Given the description of an element on the screen output the (x, y) to click on. 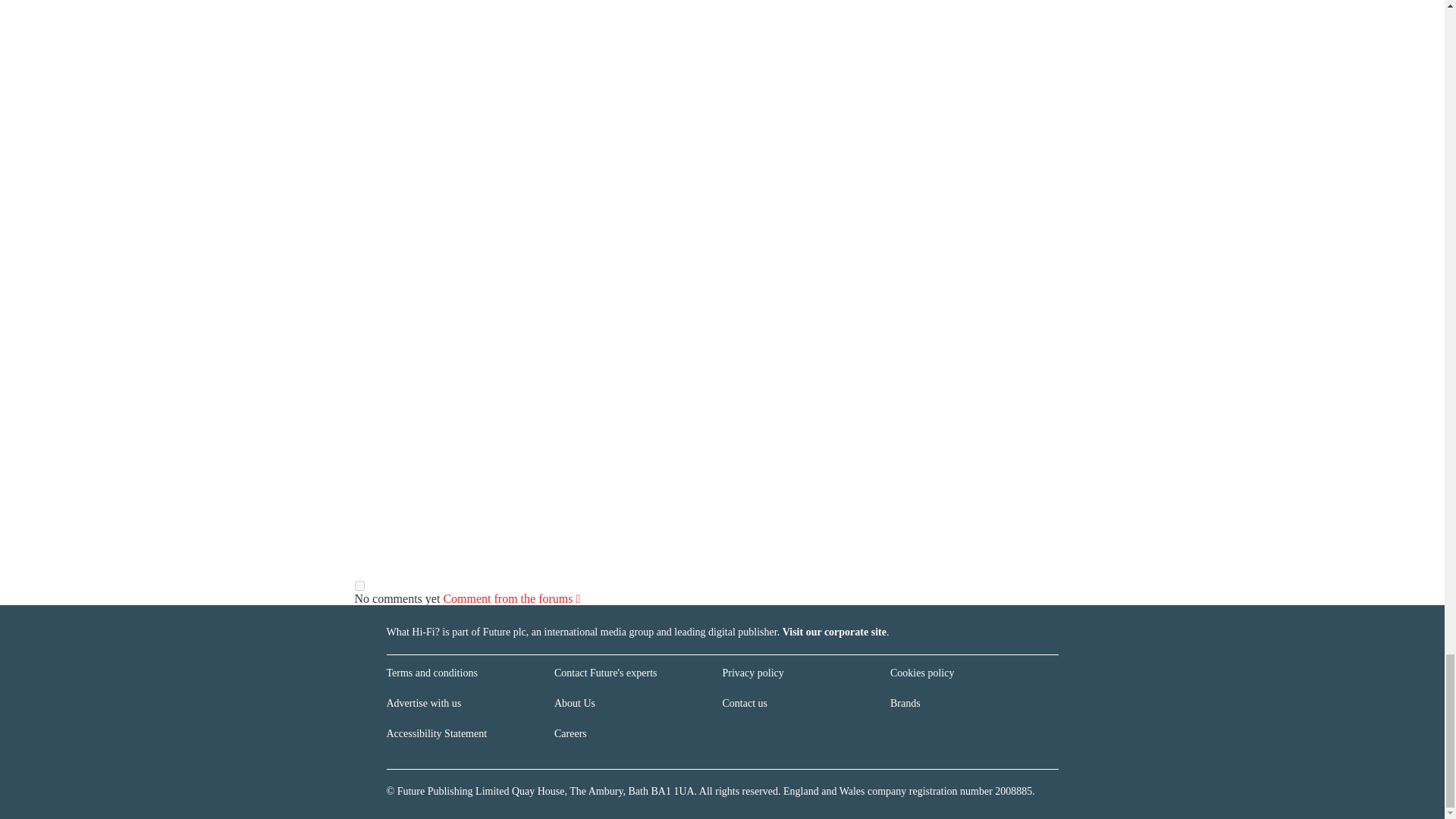
on (360, 585)
